Given the description of an element on the screen output the (x, y) to click on. 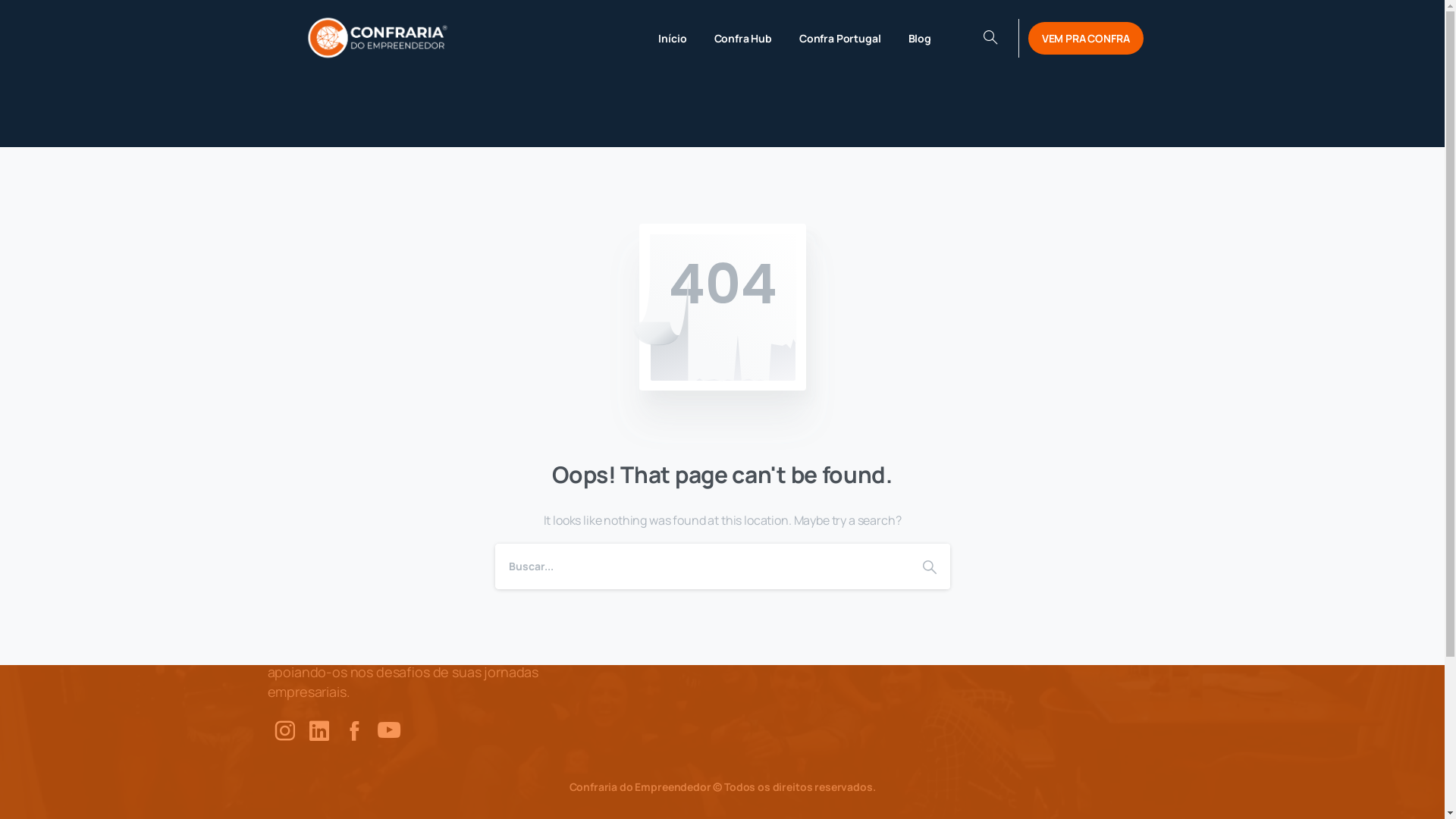
Blog Element type: text (919, 38)
Confra Hub Element type: text (952, 607)
VEM PRA CONFRA Element type: text (1085, 37)
Contato Element type: text (952, 578)
Confra Portugal Element type: text (840, 38)
Shape Element type: text (928, 566)
Seja Confra Element type: hover (958, 37)
Confra Portugal Element type: text (952, 637)
Confra Hub Element type: text (743, 38)
Blog Element type: text (952, 549)
